Given the description of an element on the screen output the (x, y) to click on. 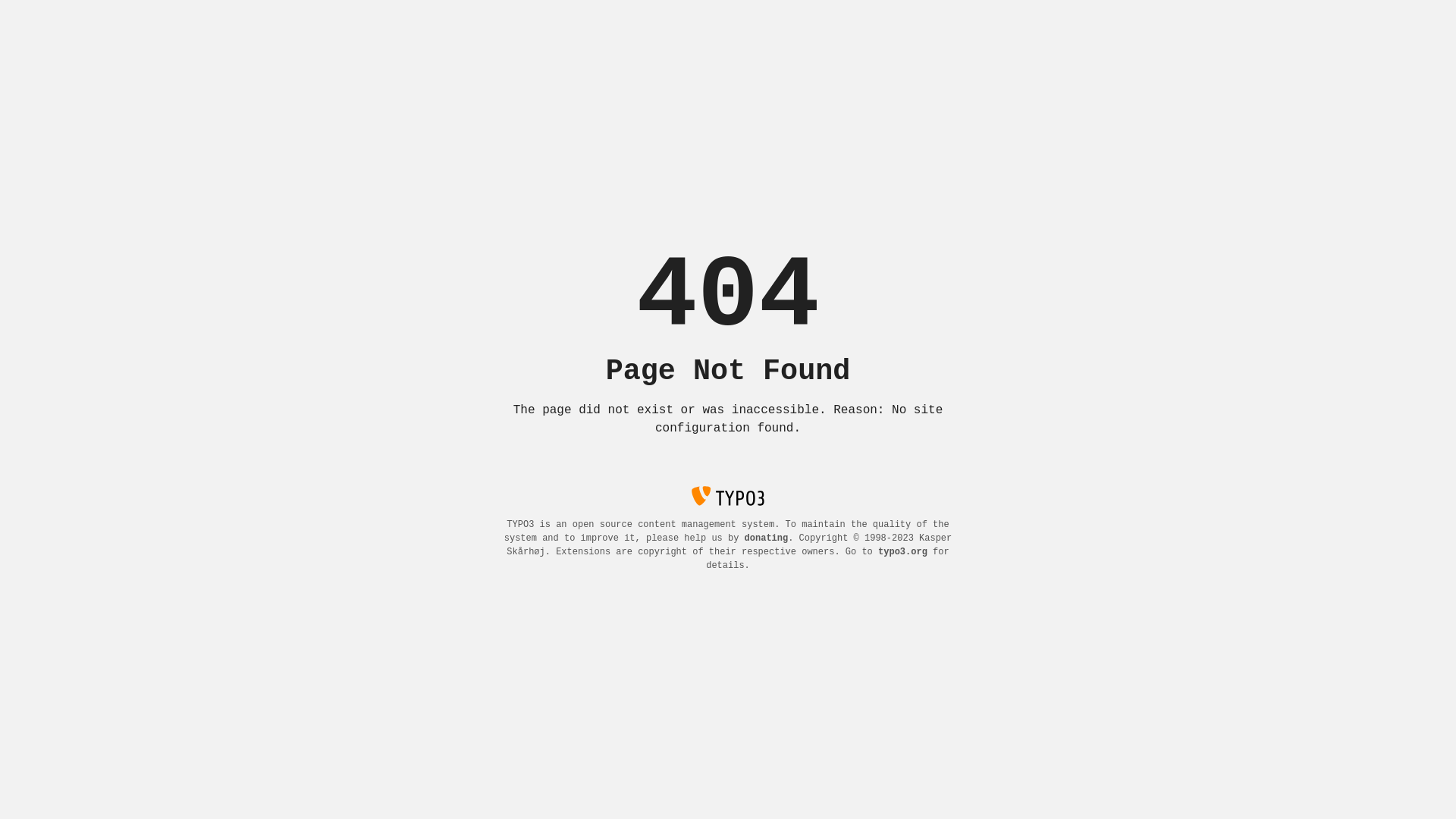
typo3.org Element type: text (902, 551)
donating Element type: text (766, 538)
